Given the description of an element on the screen output the (x, y) to click on. 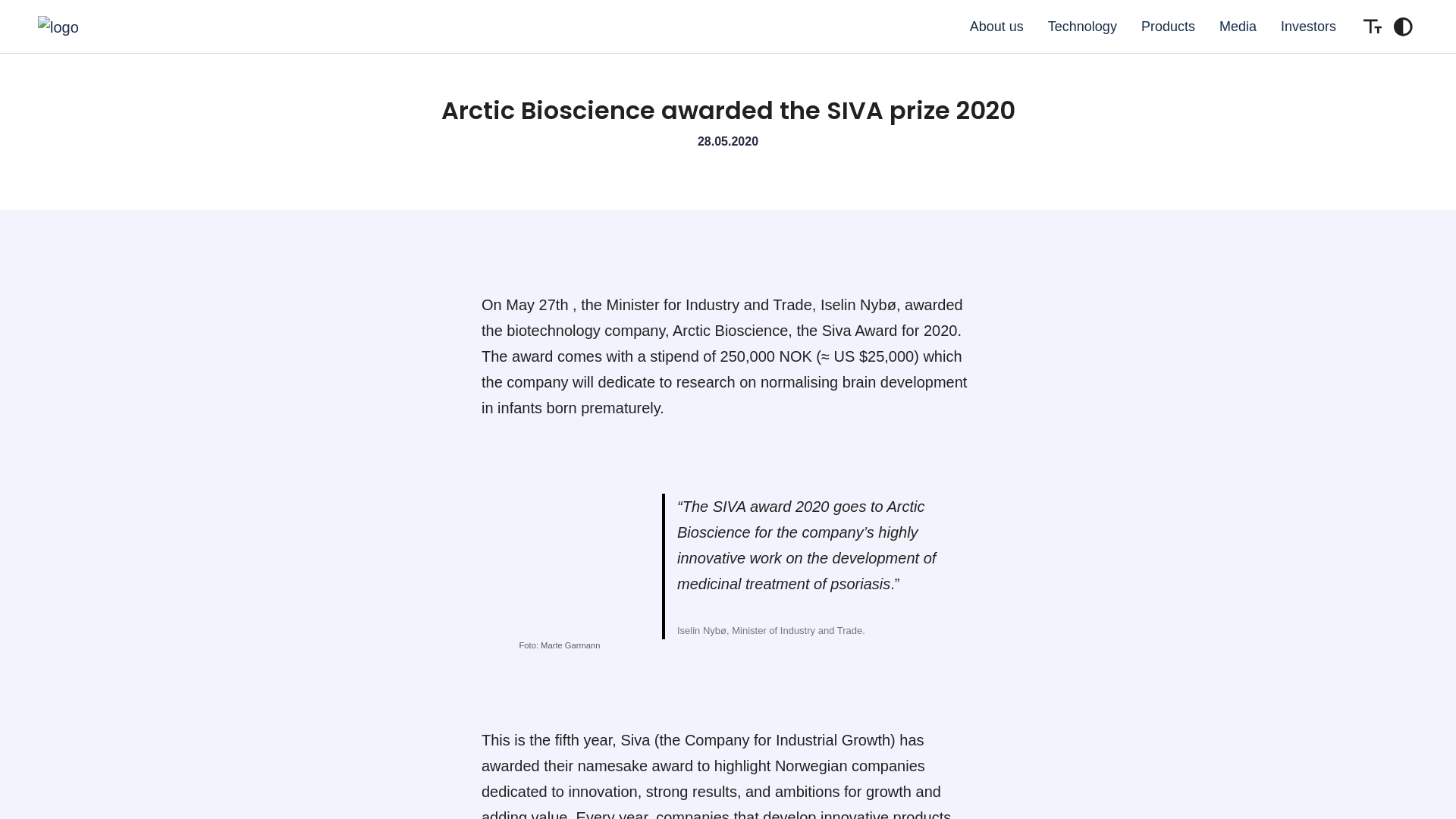
Technology (1082, 26)
Products (1168, 26)
About us (996, 26)
Investors (1308, 26)
Media (1238, 26)
